Given the description of an element on the screen output the (x, y) to click on. 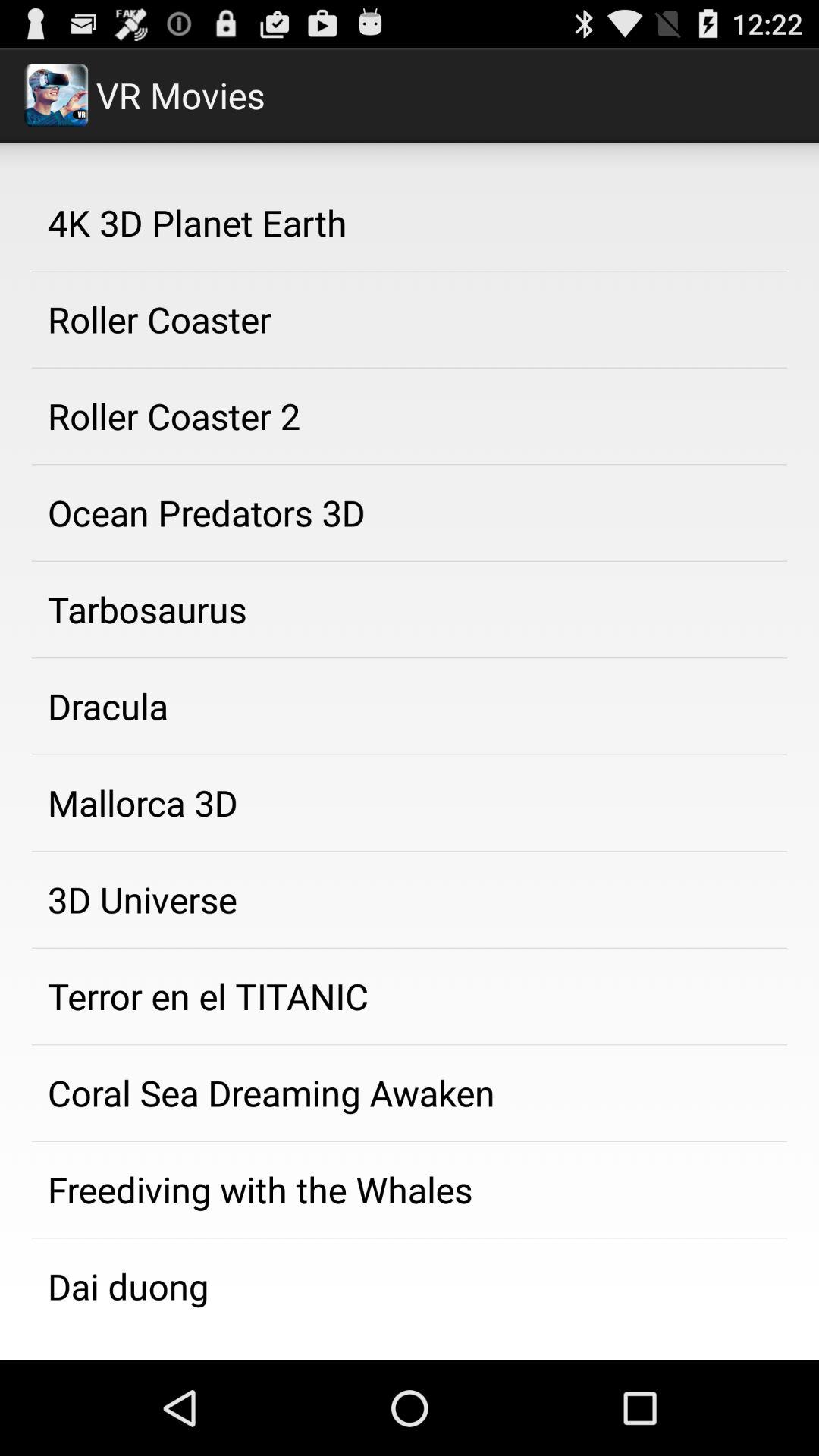
press the item above the terror en el item (409, 899)
